Given the description of an element on the screen output the (x, y) to click on. 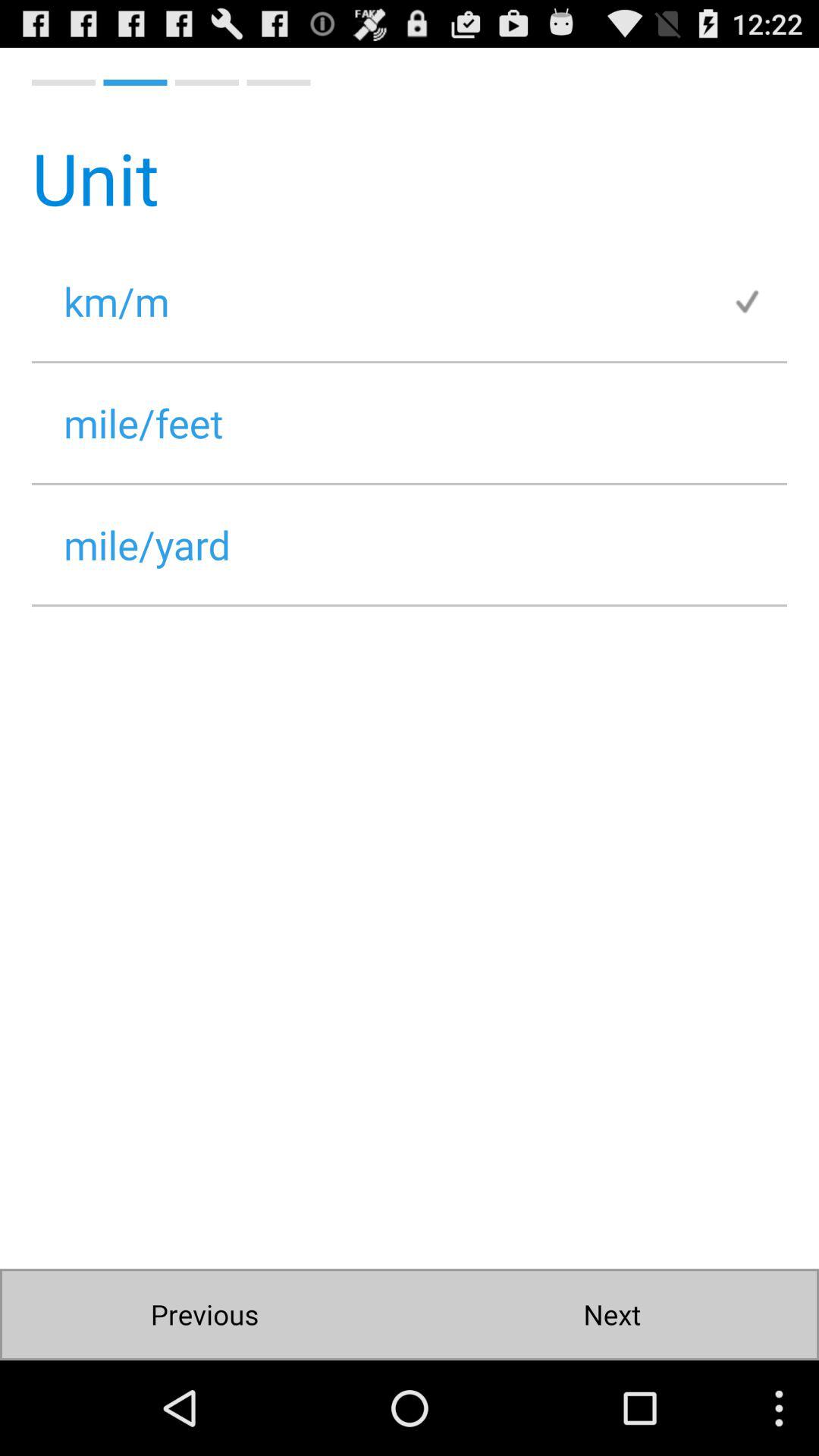
turn on the icon below the mile/yard (611, 1314)
